Given the description of an element on the screen output the (x, y) to click on. 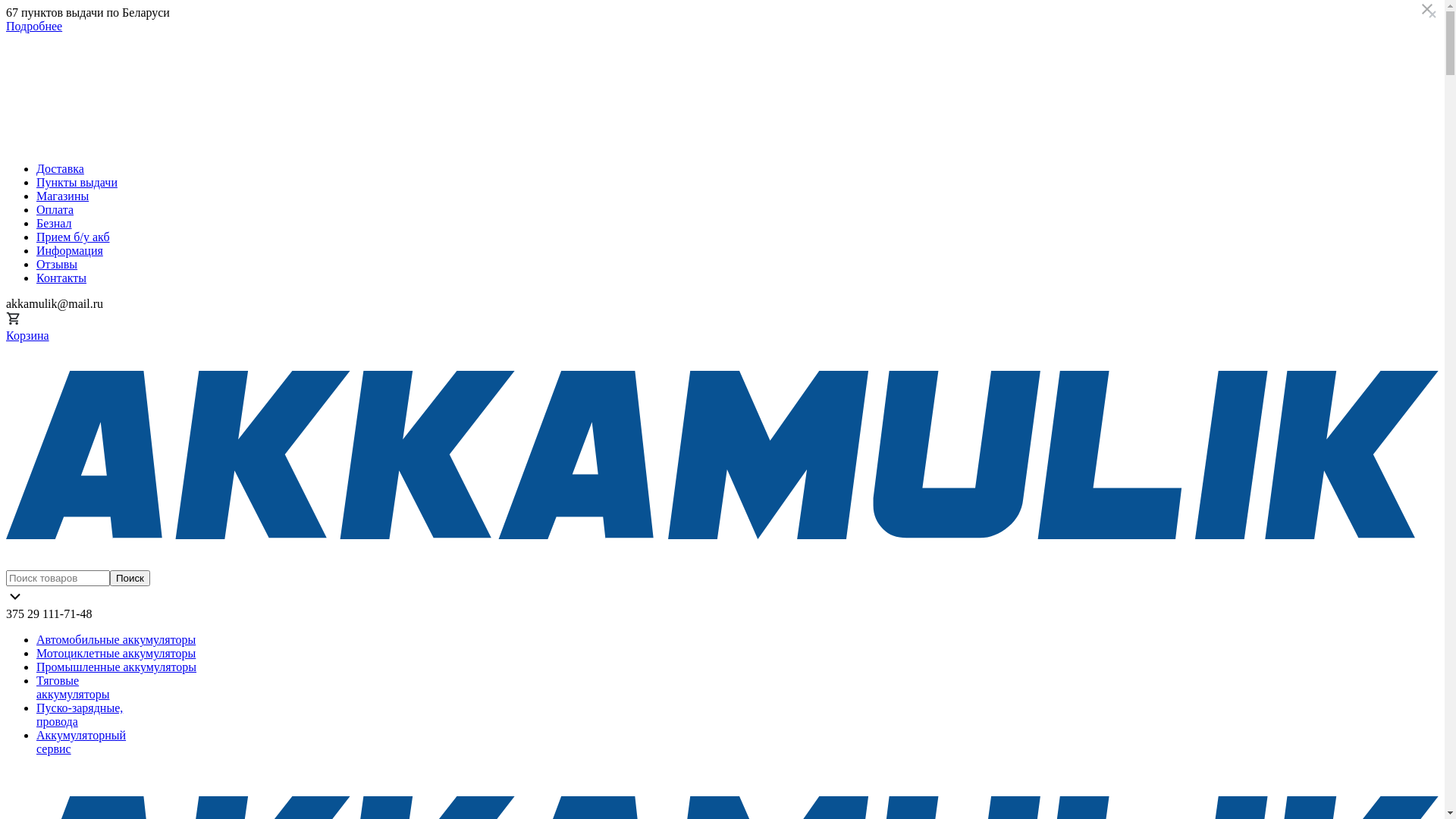
375 29 111-71-48 Element type: text (48, 613)
